Given the description of an element on the screen output the (x, y) to click on. 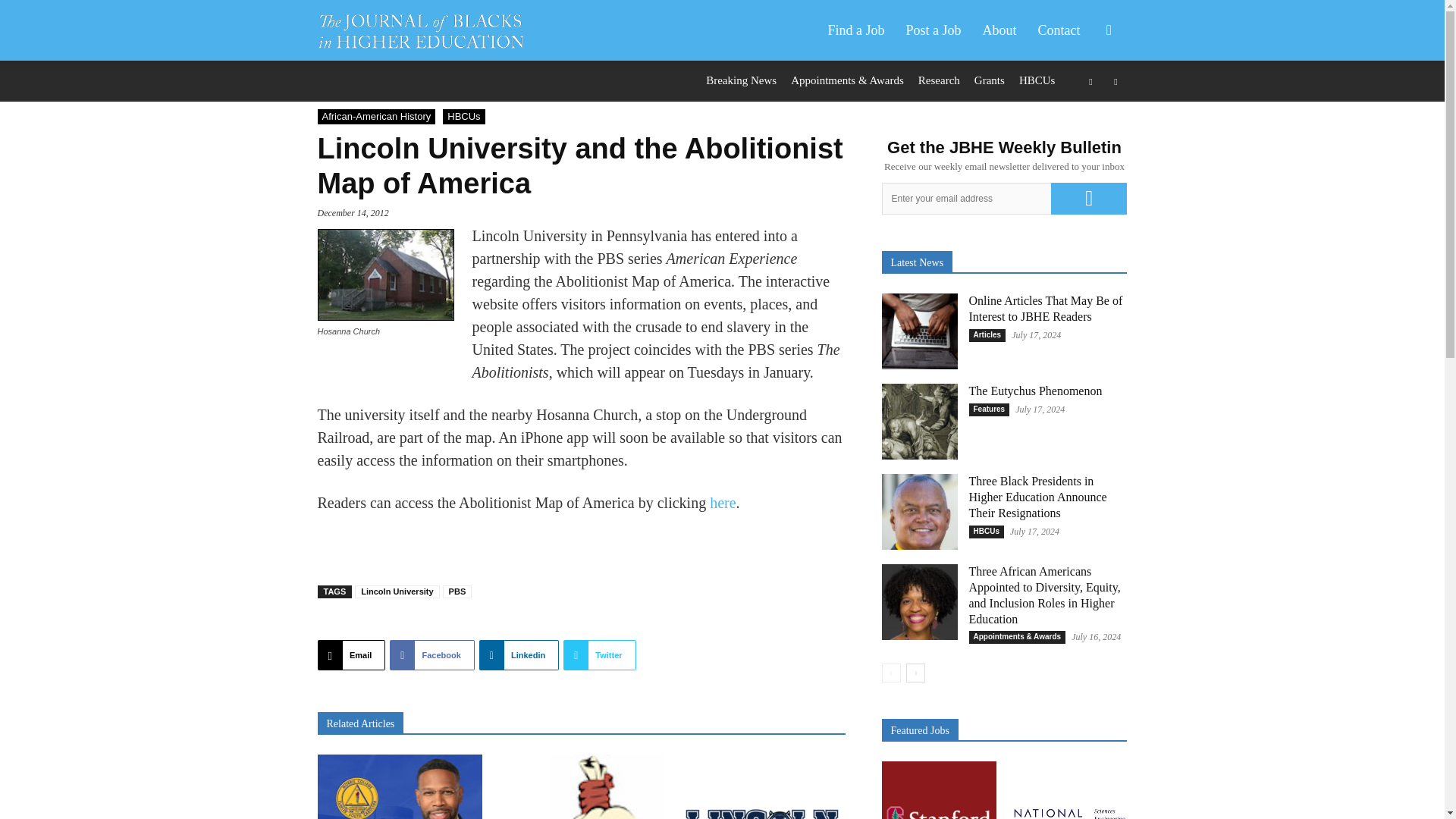
African-American History (376, 116)
Lincoln University (397, 591)
Research (938, 80)
Facebook (432, 654)
Twitter (598, 654)
here (722, 502)
about (999, 30)
Post a Job (933, 30)
Email (351, 654)
HBCUs (463, 116)
The Journal of Blacks in Higher Education (428, 30)
The Journal of Blacks in Higher Education (419, 30)
About (999, 30)
Find a Job (855, 30)
